Given the description of an element on the screen output the (x, y) to click on. 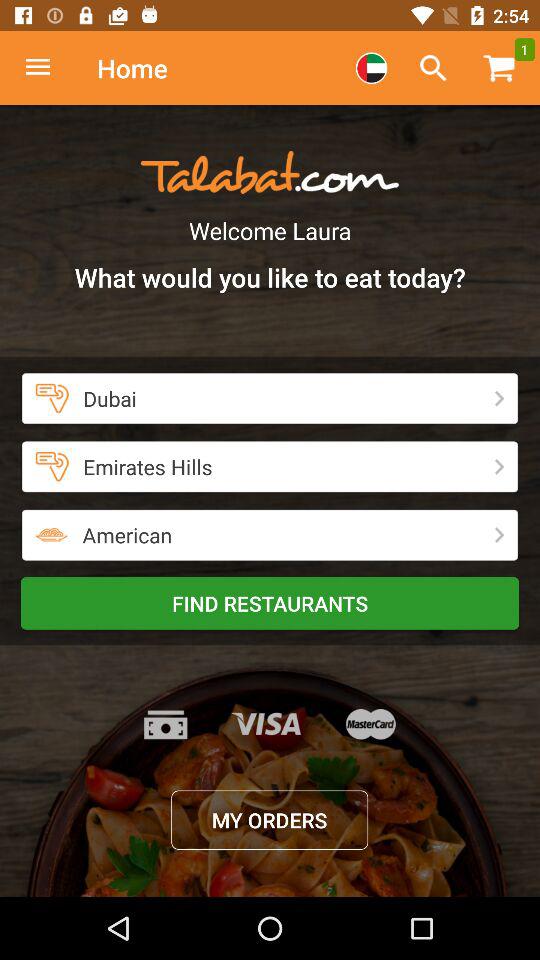
search your query (433, 68)
